Given the description of an element on the screen output the (x, y) to click on. 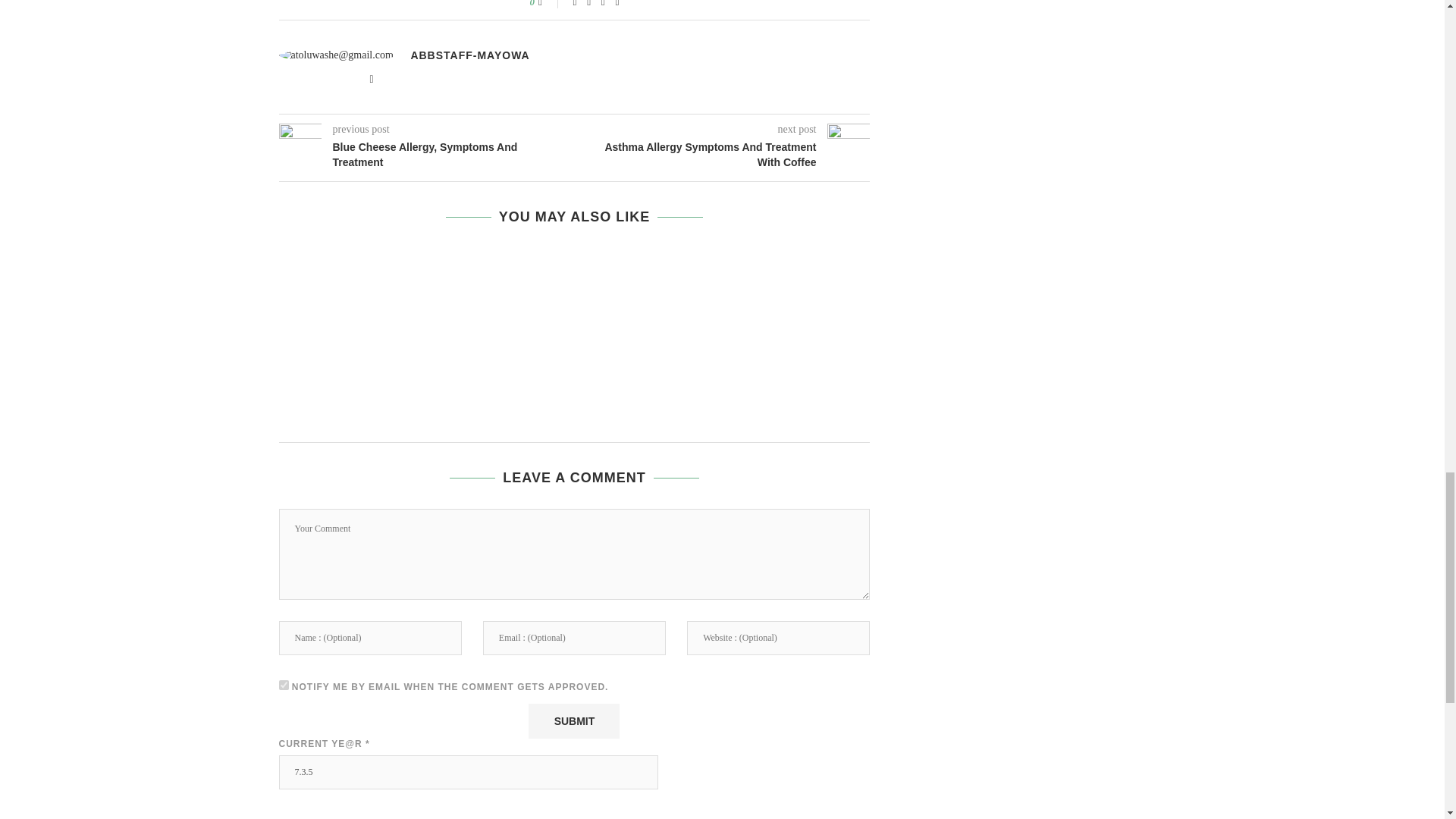
Posts by ABBStaff-Mayowa (469, 55)
Submit (574, 720)
Like (550, 4)
1 (283, 685)
7.3.5 (468, 772)
